Given the description of an element on the screen output the (x, y) to click on. 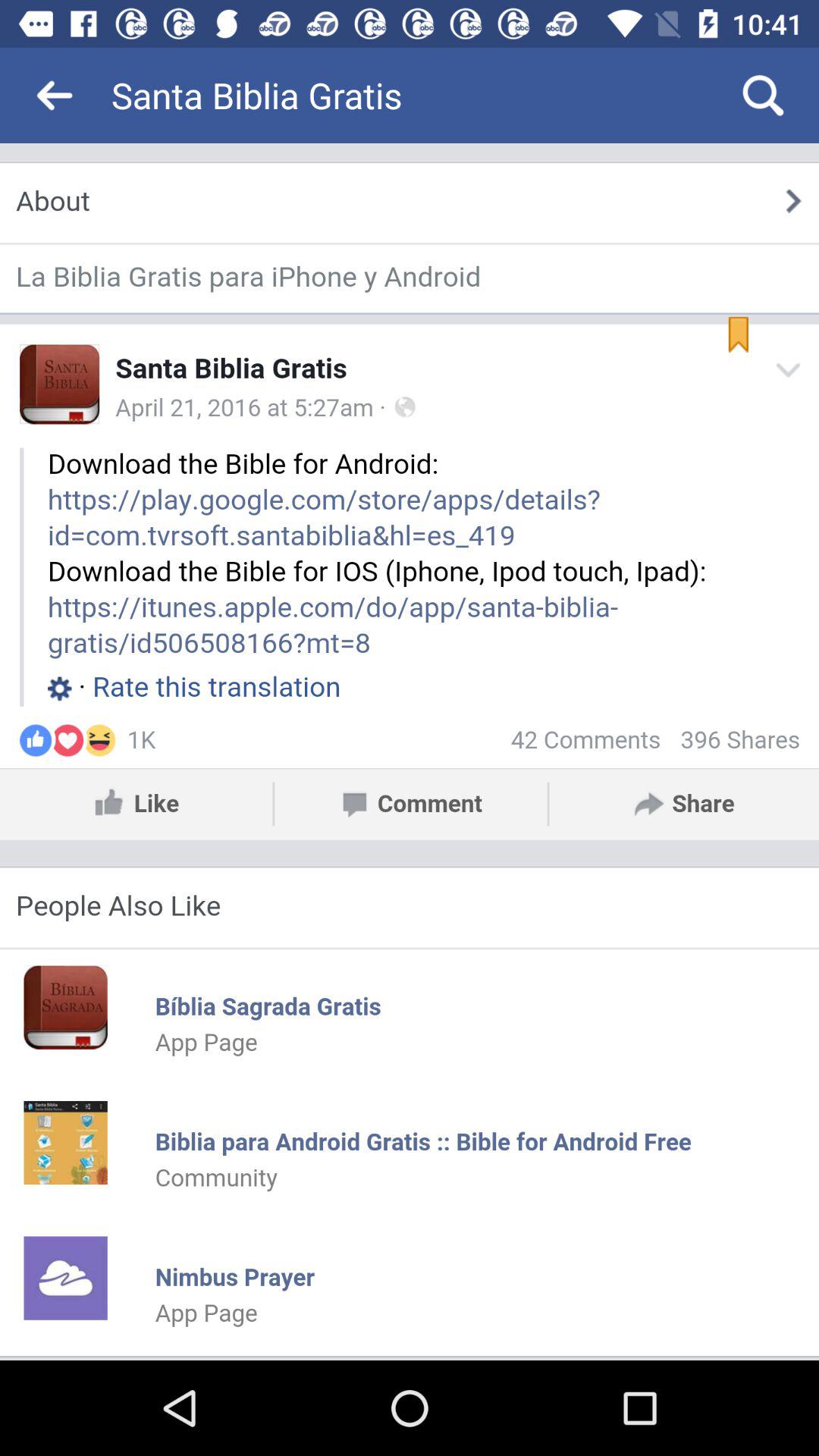
launch the item to the right of santa biblia gratis (763, 95)
